Given the description of an element on the screen output the (x, y) to click on. 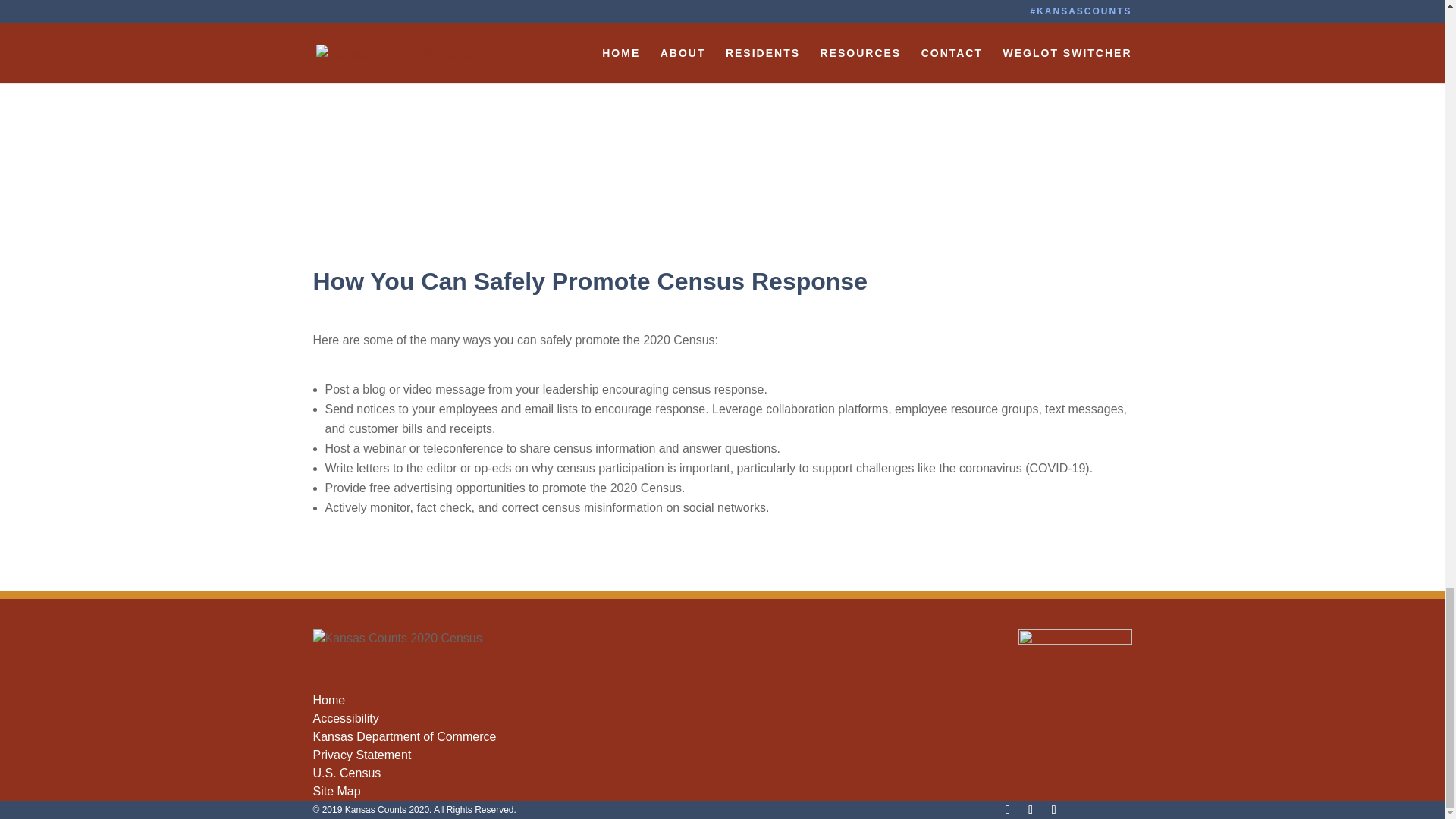
Site Map (336, 790)
Home (329, 699)
U.S. Census (346, 772)
Kansas Department of Commerce (404, 736)
Accessibility (345, 717)
Privacy Statement (361, 754)
